Given the description of an element on the screen output the (x, y) to click on. 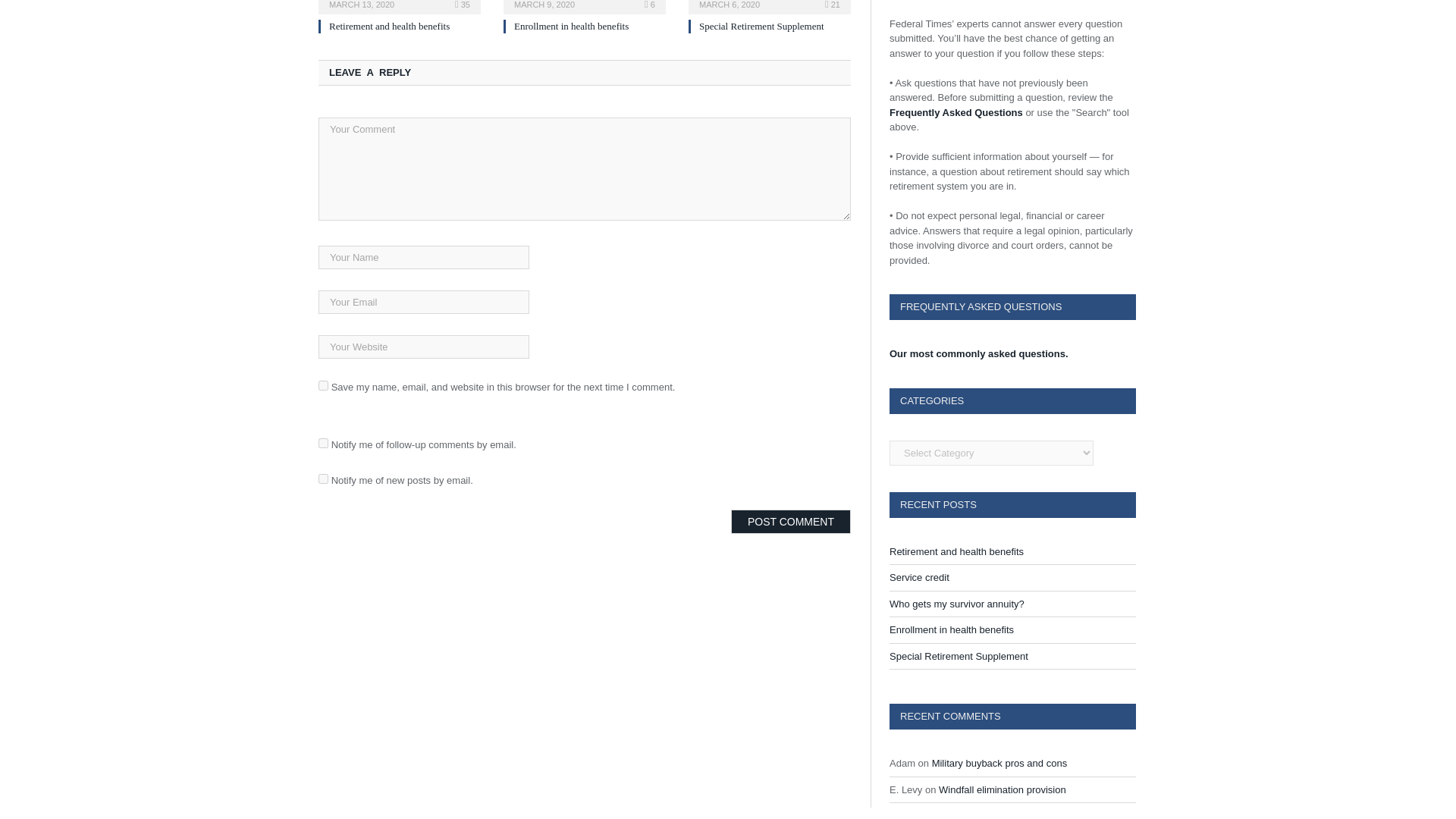
yes (323, 385)
Post Comment (790, 521)
subscribe (323, 442)
subscribe (323, 479)
Retirement and health benefits (389, 25)
Retirement and health benefits (399, 5)
